Given the description of an element on the screen output the (x, y) to click on. 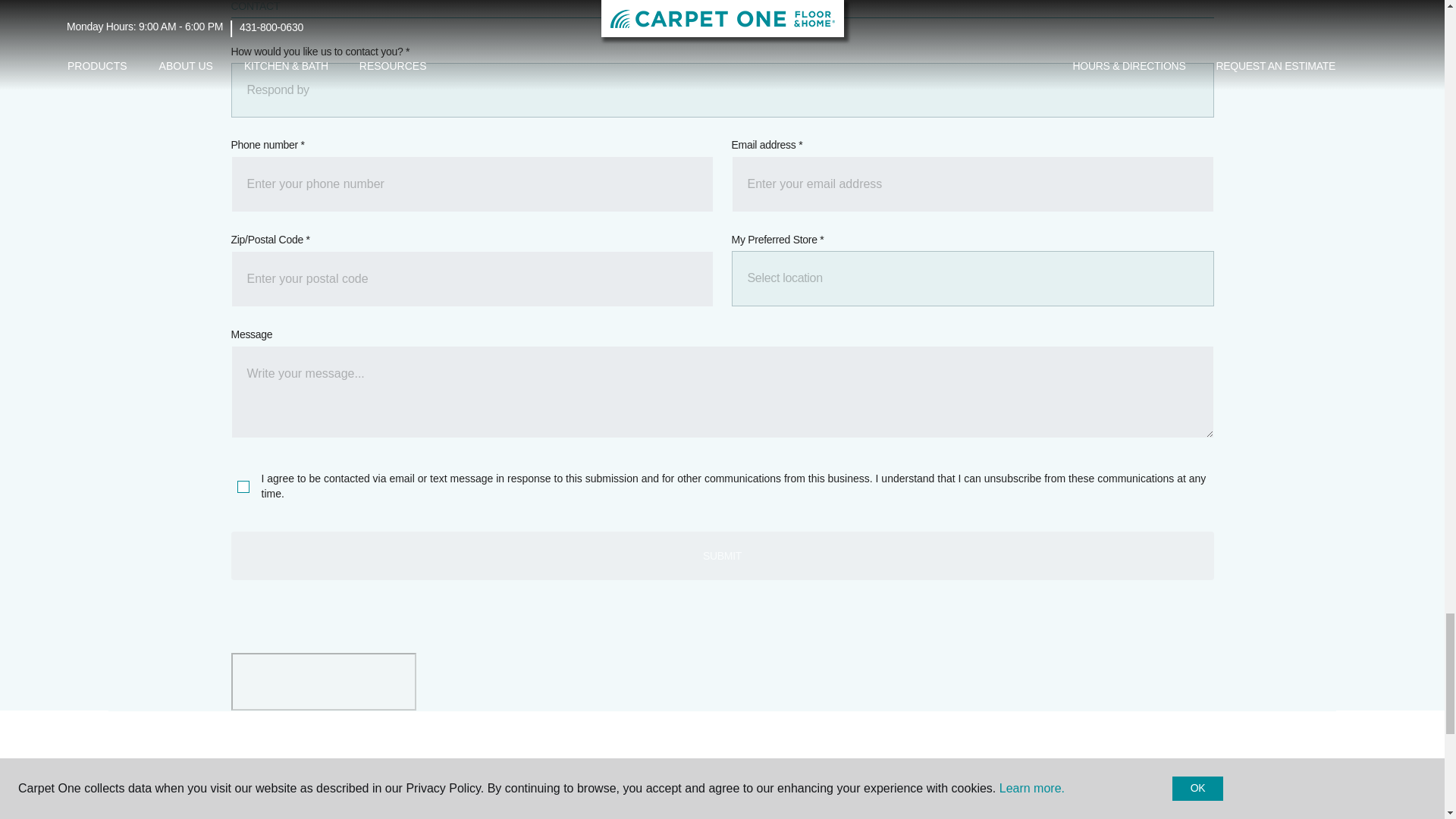
EmailAddress (971, 184)
MyMessage (721, 391)
CleanHomePhone (471, 184)
PostalCode (471, 278)
